Given the description of an element on the screen output the (x, y) to click on. 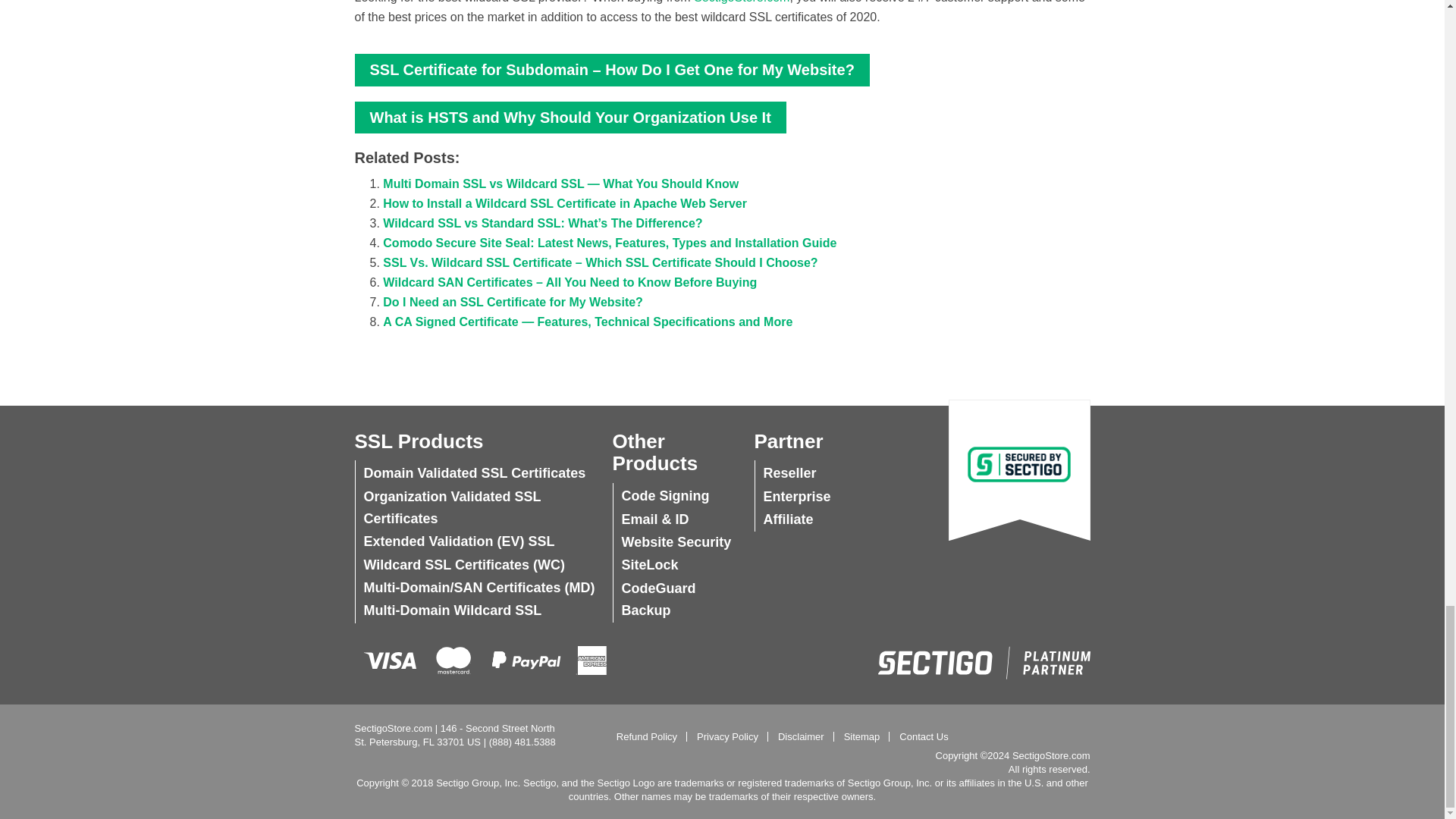
Do I Need an SSL Certificate for My Website? (512, 301)
